Given the description of an element on the screen output the (x, y) to click on. 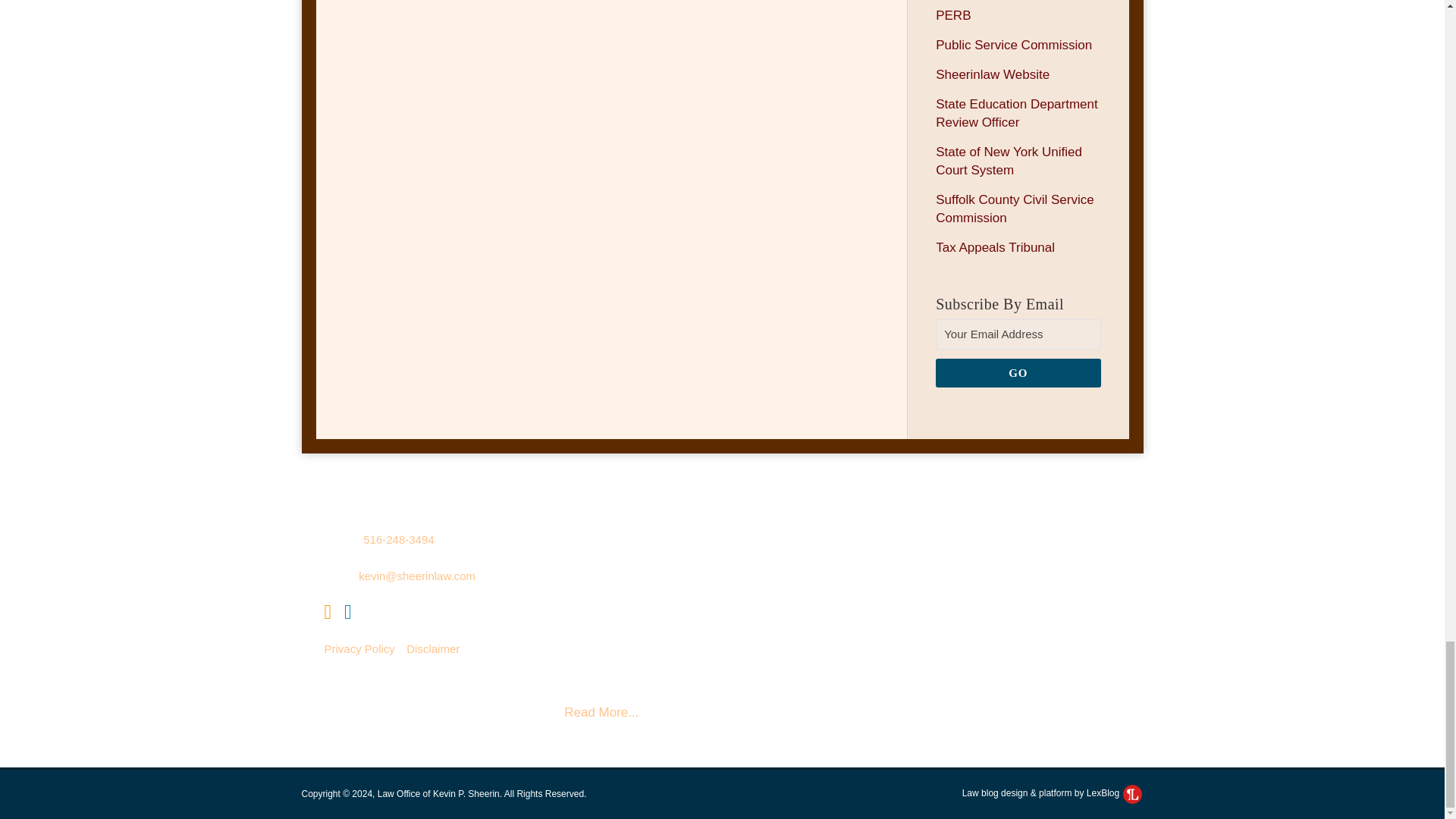
GO (1018, 372)
LexBlog Logo (1131, 793)
State of New York Unified Court System (1008, 160)
Suffolk County Civil Service Commission (1015, 208)
